Given the description of an element on the screen output the (x, y) to click on. 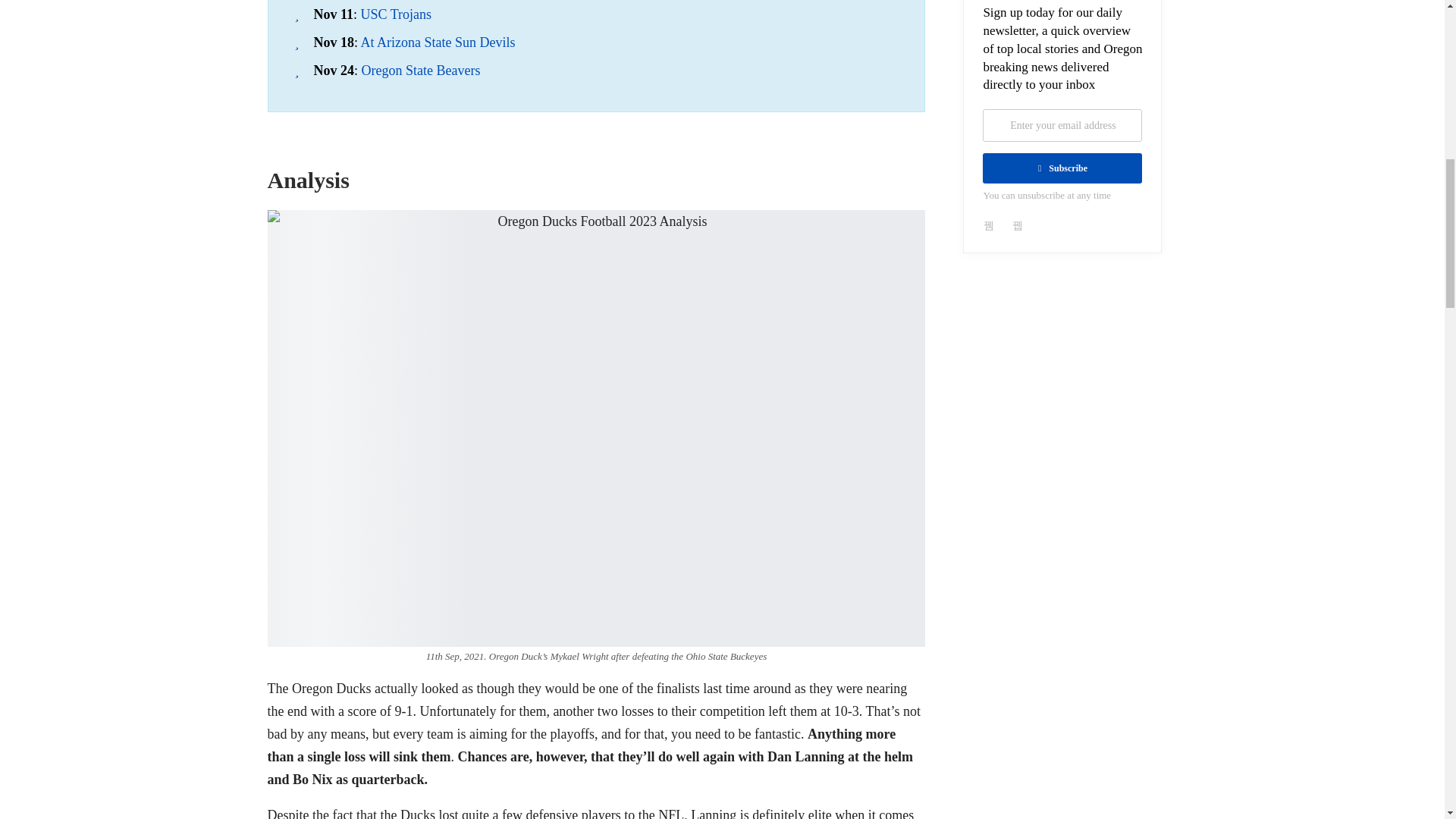
USC Trojans (396, 14)
Oregon State Beavers (420, 70)
At Arizona State Sun Devils (438, 42)
